Given the description of an element on the screen output the (x, y) to click on. 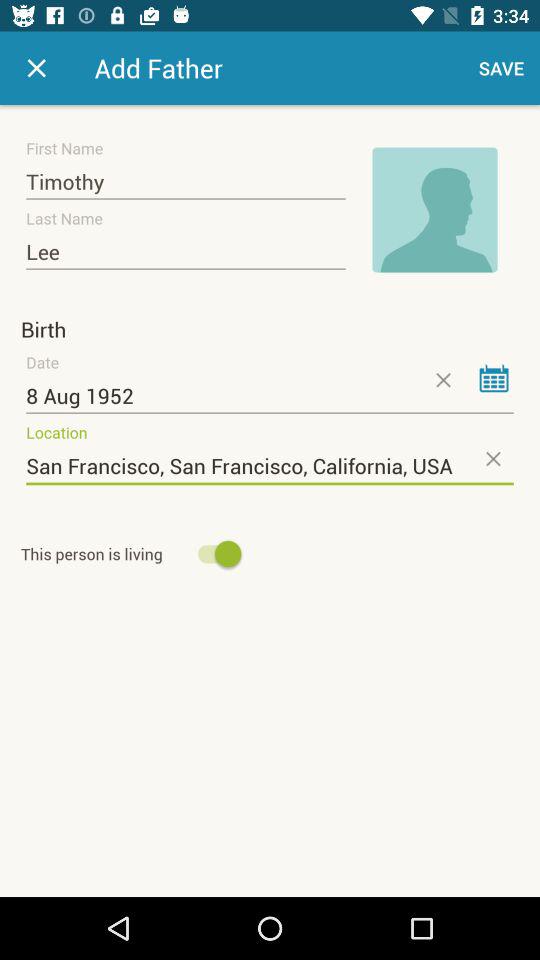
turn off item next to the add father (501, 67)
